Given the description of an element on the screen output the (x, y) to click on. 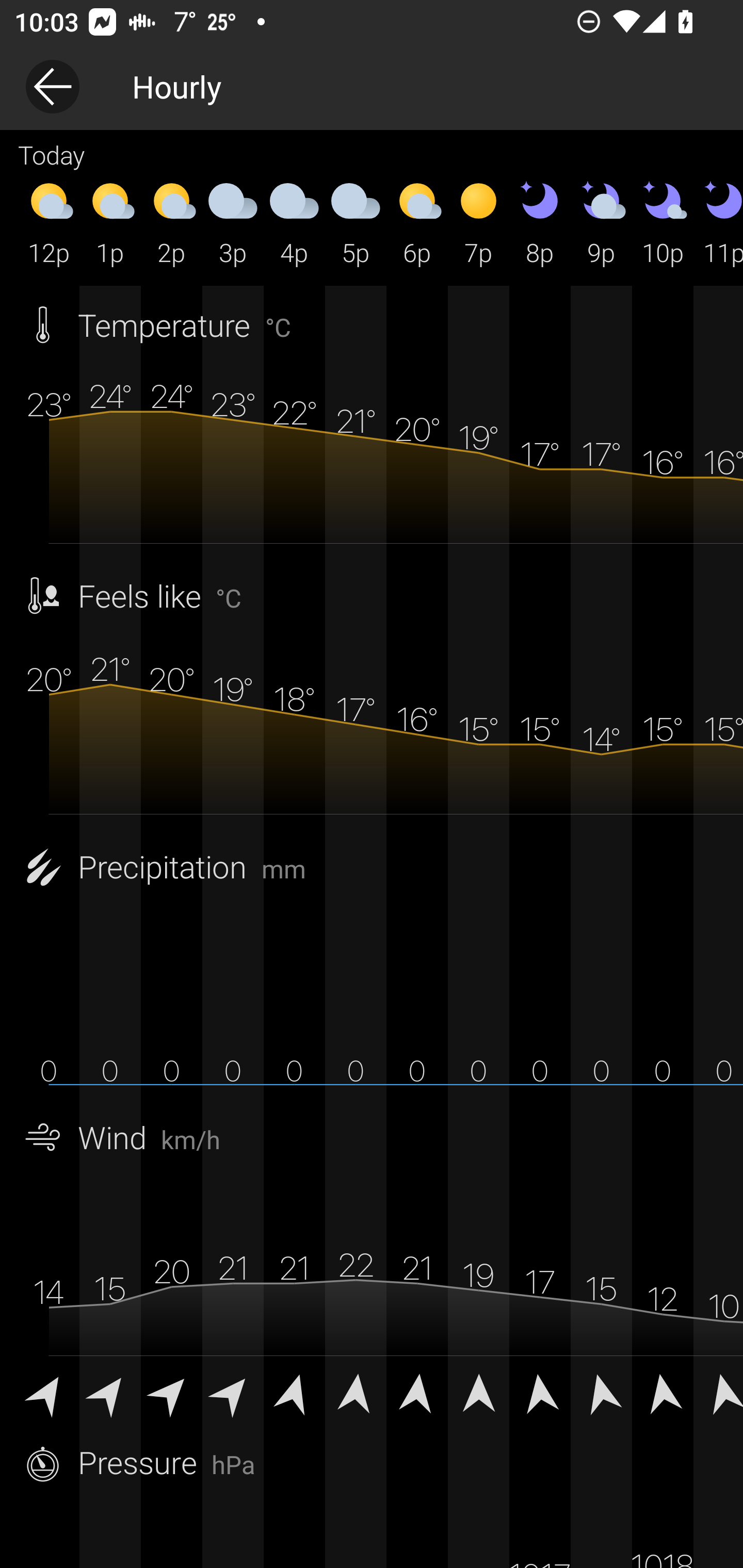
12p (48, 222)
1p (110, 222)
2p (171, 222)
3p (232, 222)
4p (294, 222)
5p (355, 222)
6p (417, 222)
7p (478, 222)
8p (539, 222)
9p (601, 222)
10p (662, 222)
11p (718, 222)
 (48, 1391)
 (110, 1391)
 (171, 1391)
 (232, 1391)
 (294, 1391)
 (355, 1391)
 (417, 1391)
 (478, 1391)
 (539, 1391)
 (601, 1391)
 (662, 1391)
 (718, 1391)
